Given the description of an element on the screen output the (x, y) to click on. 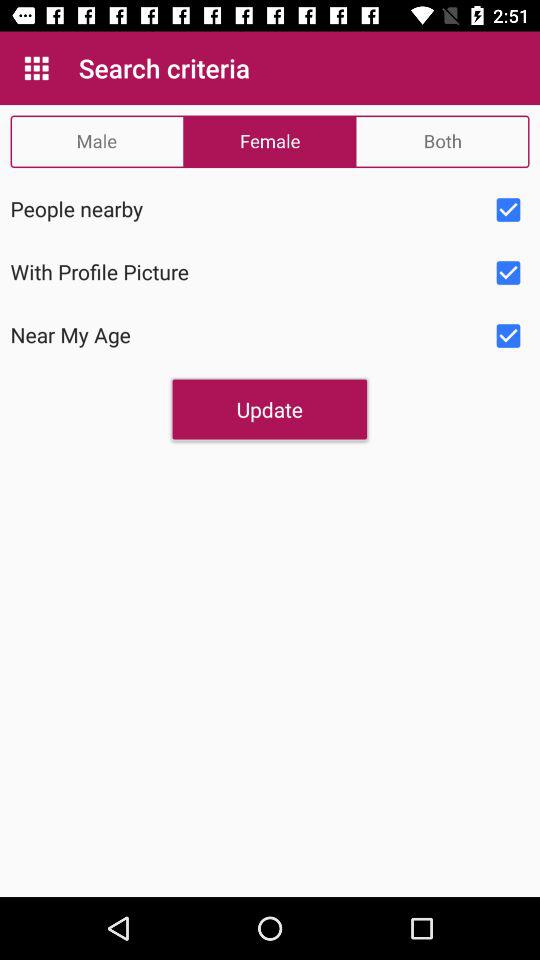
add selection (508, 336)
